Given the description of an element on the screen output the (x, y) to click on. 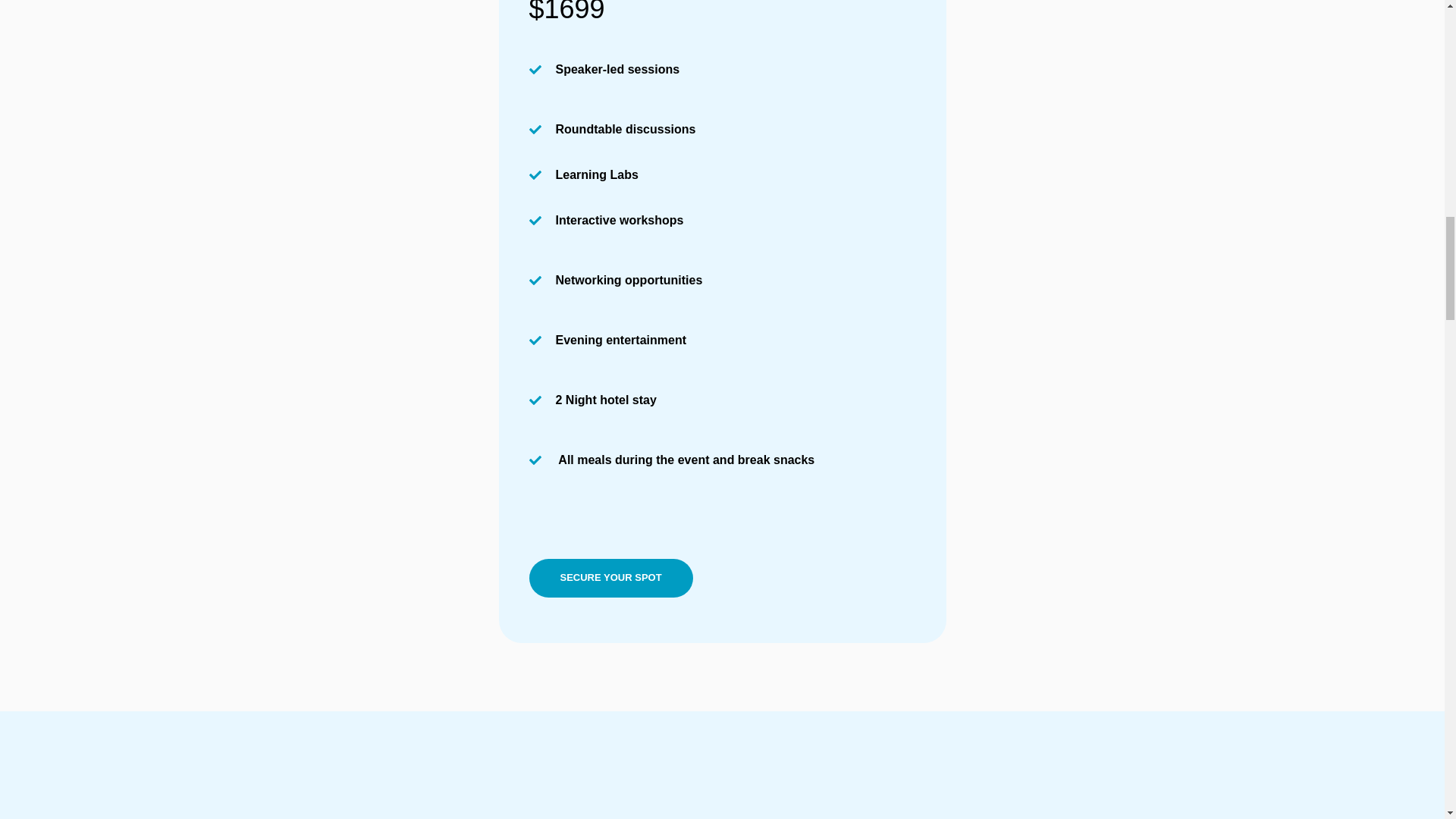
Button Secure Your Spot (611, 577)
SECURE YOUR SPOT (611, 577)
